Given the description of an element on the screen output the (x, y) to click on. 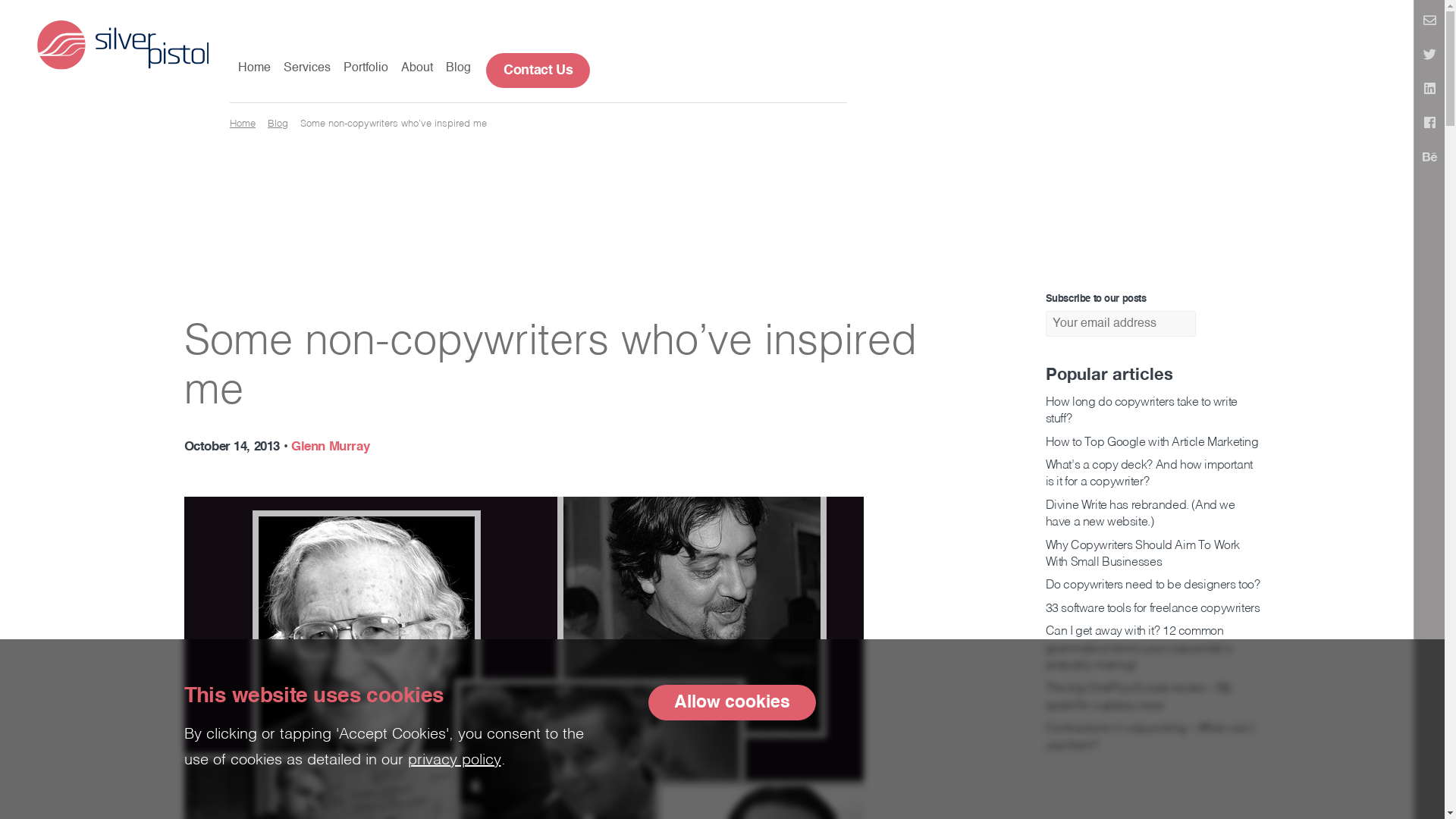
How to Top Google with Article Marketing Element type: text (1151, 442)
See us on Twitter Element type: hover (1429, 55)
Do copywriters need to be designers too? Element type: text (1151, 585)
How long do copywriters take to write stuff? Element type: text (1140, 410)
33 software tools for freelance copywriters Element type: text (1151, 608)
Silver Pistol Logo Element type: hover (122, 43)
See us on Behance Element type: hover (1429, 158)
Contact Us Element type: text (537, 70)
About Element type: text (417, 68)
privacy policy Element type: text (454, 760)
Blog Element type: text (457, 68)
Services Element type: text (306, 68)
See us on LinkedIn Element type: hover (1429, 89)
Home Element type: text (242, 123)
Why Copywriters Should Aim To Work With Small Businesses Element type: text (1141, 553)
Blog Element type: text (277, 123)
Portfolio Element type: text (365, 68)
Divine Write has rebranded. (And we have a new website.) Element type: text (1139, 513)
See us on Facebook Element type: hover (1429, 123)
Home Element type: text (254, 68)
Send us an email Element type: hover (1429, 21)
Glenn Murray Element type: text (330, 446)
Allow cookies Element type: text (731, 702)
